Given the description of an element on the screen output the (x, y) to click on. 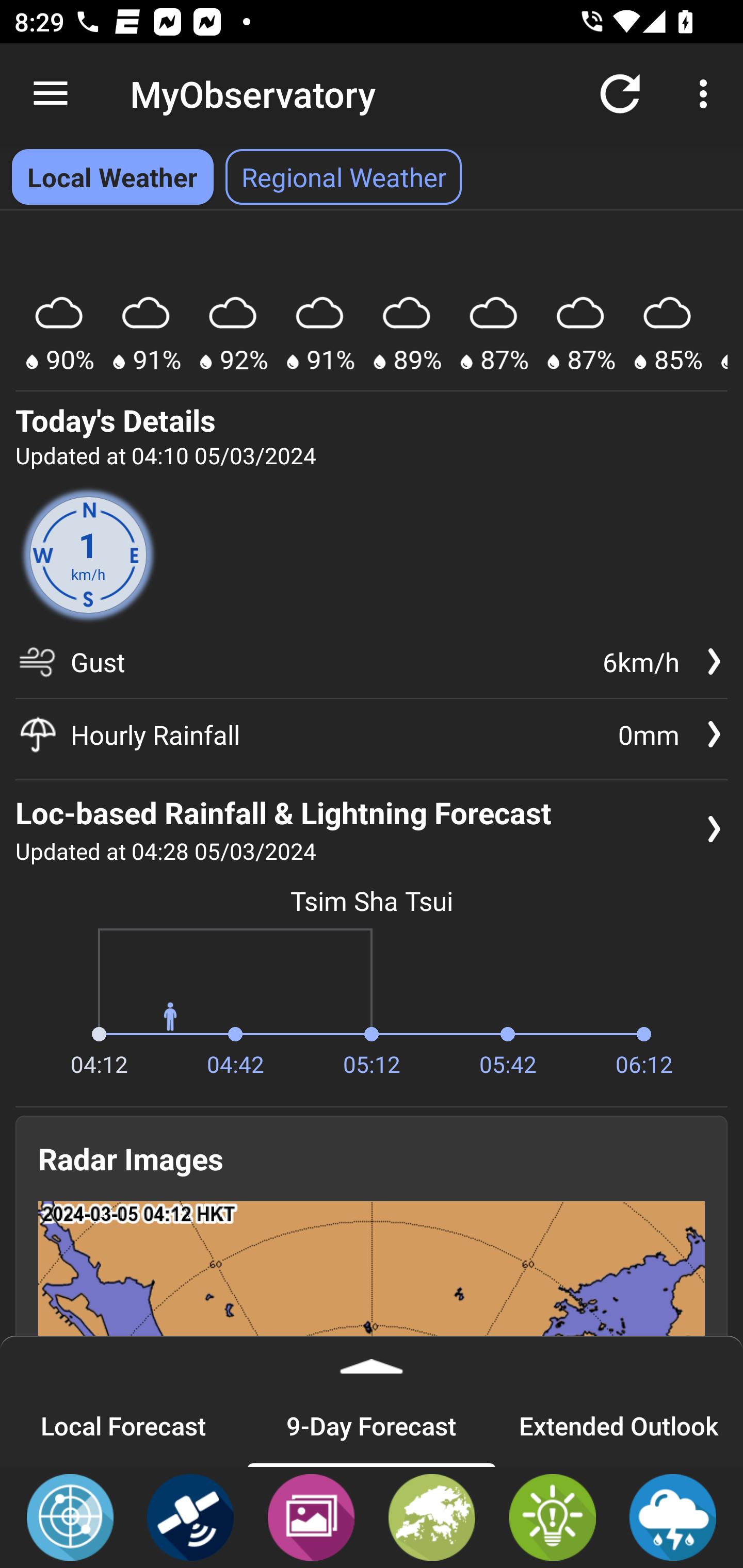
Navigate up (50, 93)
Refresh (619, 93)
More options (706, 93)
Local Weather Local Weather selected (112, 176)
Regional Weather Select Regional Weather (343, 176)
Gust 6km/h Gust 6km/h (371, 668)
Hourly Rainfall 0mm Hourly Rainfall 0mm (371, 734)
Radar Images 64 km (371, 1334)
Expand (371, 1358)
Local Forecast (123, 1424)
Extended Outlook (619, 1424)
Radar Images (69, 1516)
Satellite Images (190, 1516)
Weather Photos (310, 1516)
Regional Weather (431, 1516)
Weather Tips (551, 1516)
Loc-based Rainfall & Lightning Forecast (672, 1516)
